Given the description of an element on the screen output the (x, y) to click on. 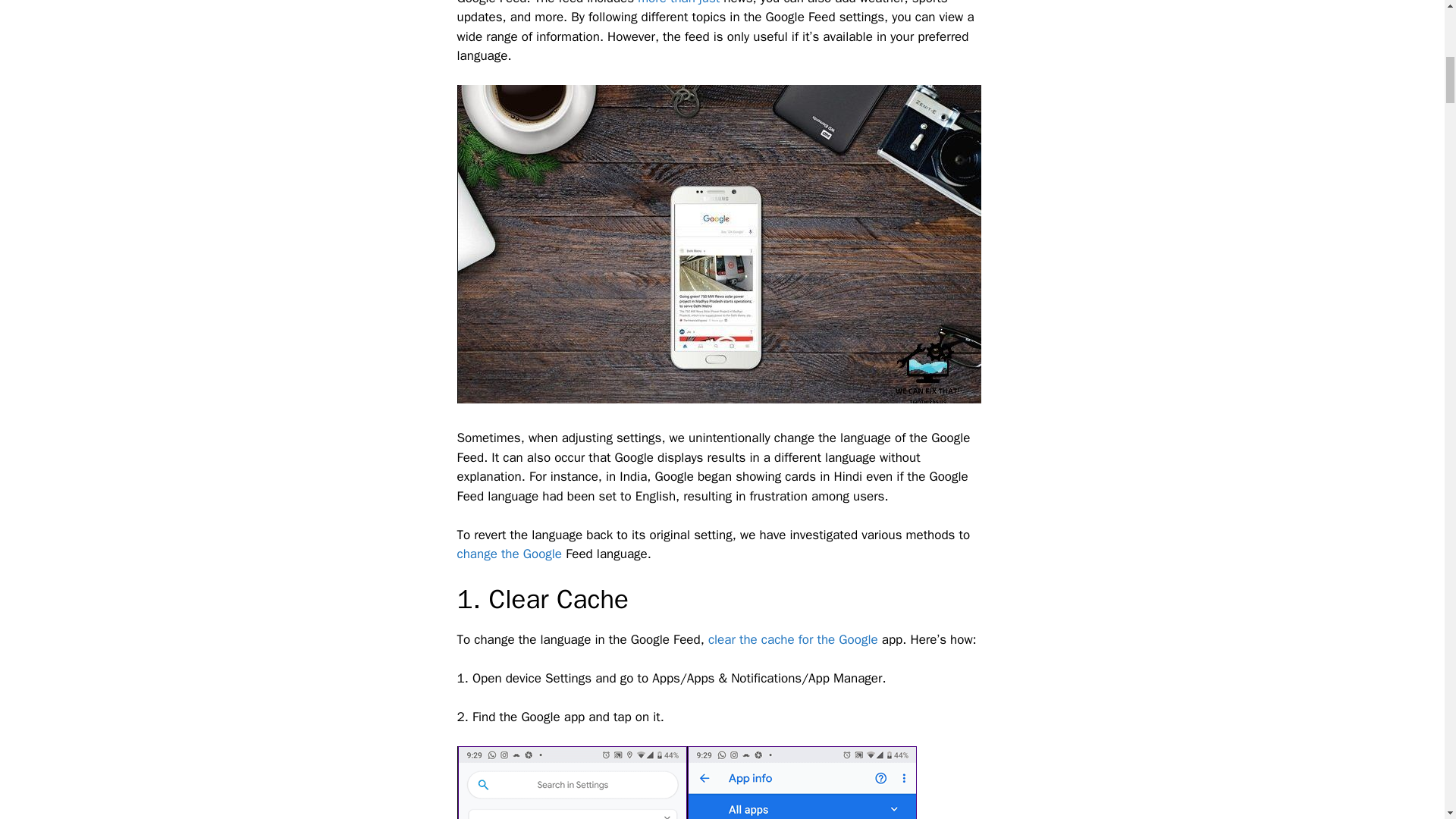
How To Change Google Feed Language in the Google App (571, 782)
How To Change Google Feed Language in the Google App (802, 782)
